Given the description of an element on the screen output the (x, y) to click on. 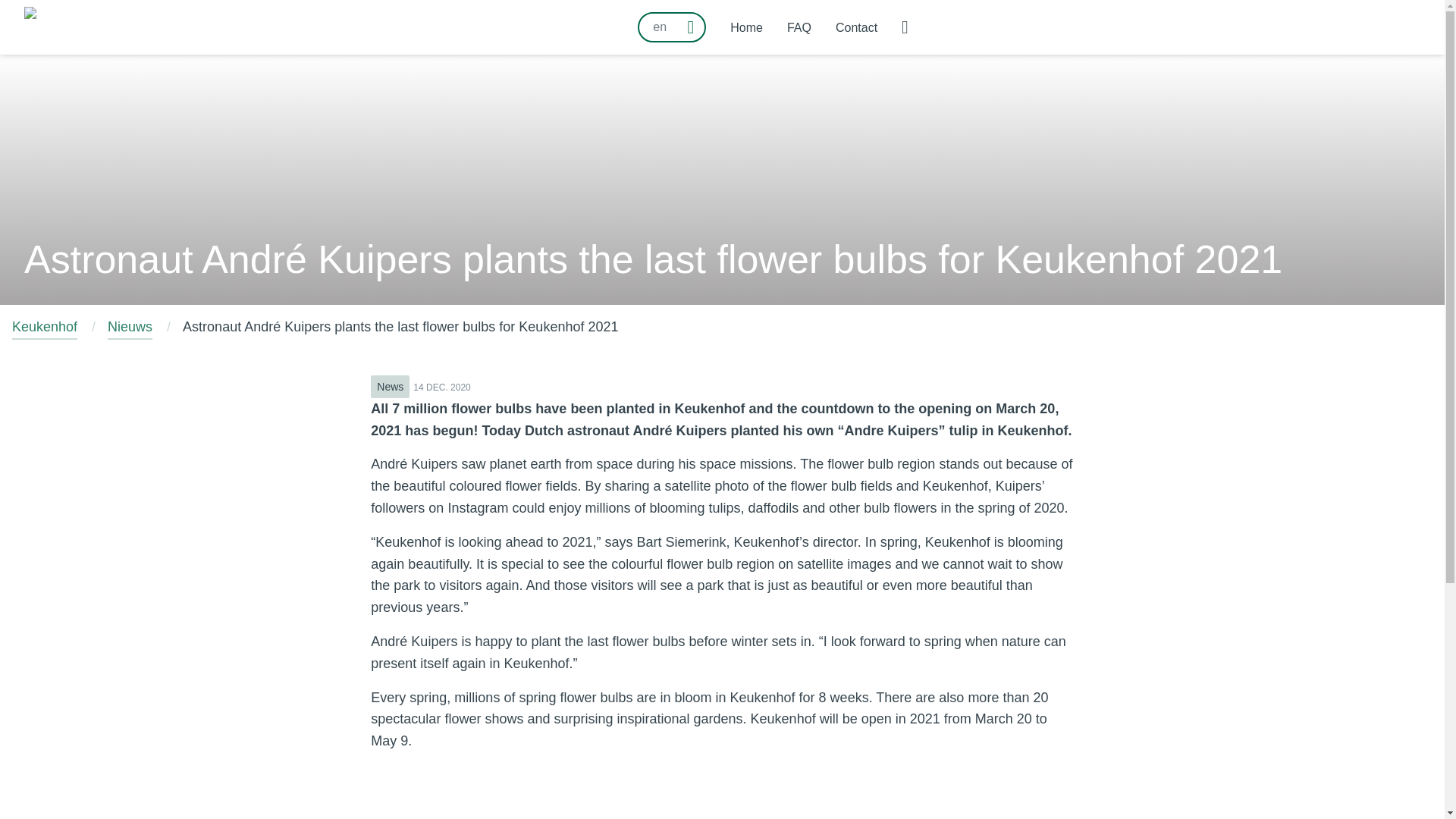
Keukenhof (44, 327)
Home (745, 26)
Nieuws (129, 327)
Contact (856, 26)
FAQ (799, 26)
